Given the description of an element on the screen output the (x, y) to click on. 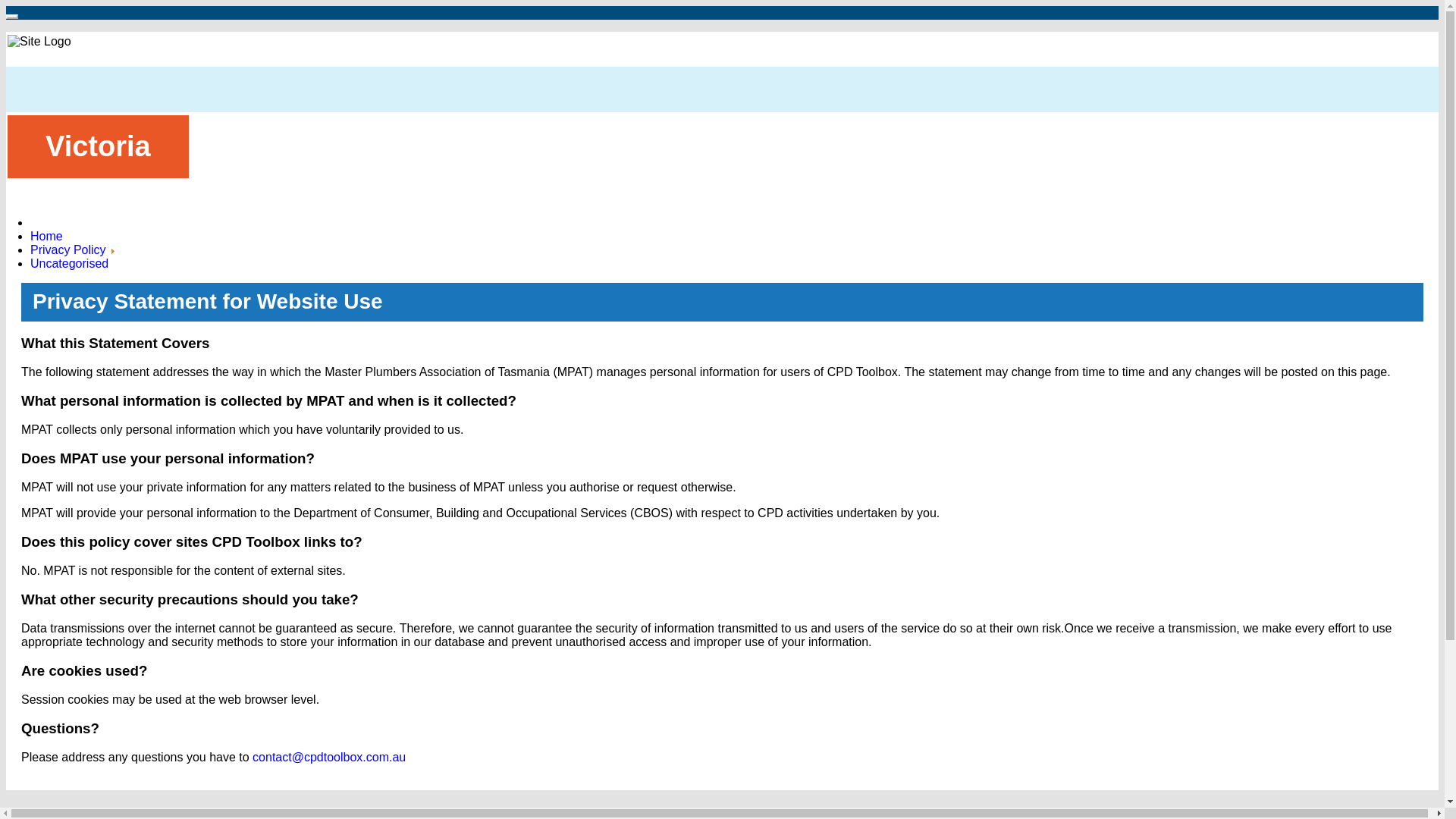
Privacy Policy Element type: text (68, 249)
Home Element type: text (46, 235)
Uncategorised Element type: text (69, 263)
contact@cpdtoolbox.com.au Element type: text (328, 756)
